Given the description of an element on the screen output the (x, y) to click on. 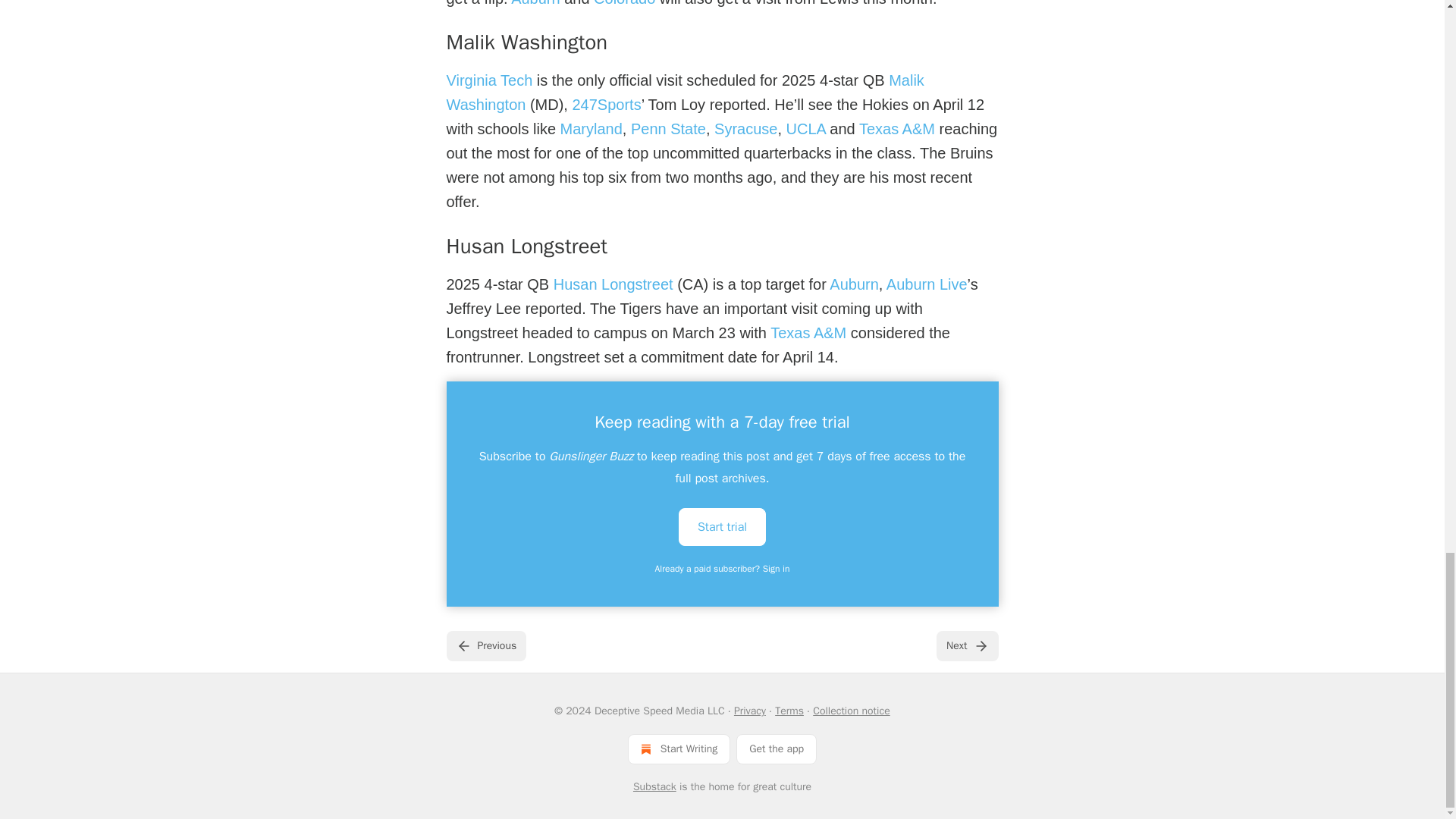
Malik Washington (684, 92)
Colorado (624, 3)
Maryland (591, 128)
Auburn (535, 3)
247Sports (606, 104)
Virginia Tech (488, 80)
